Given the description of an element on the screen output the (x, y) to click on. 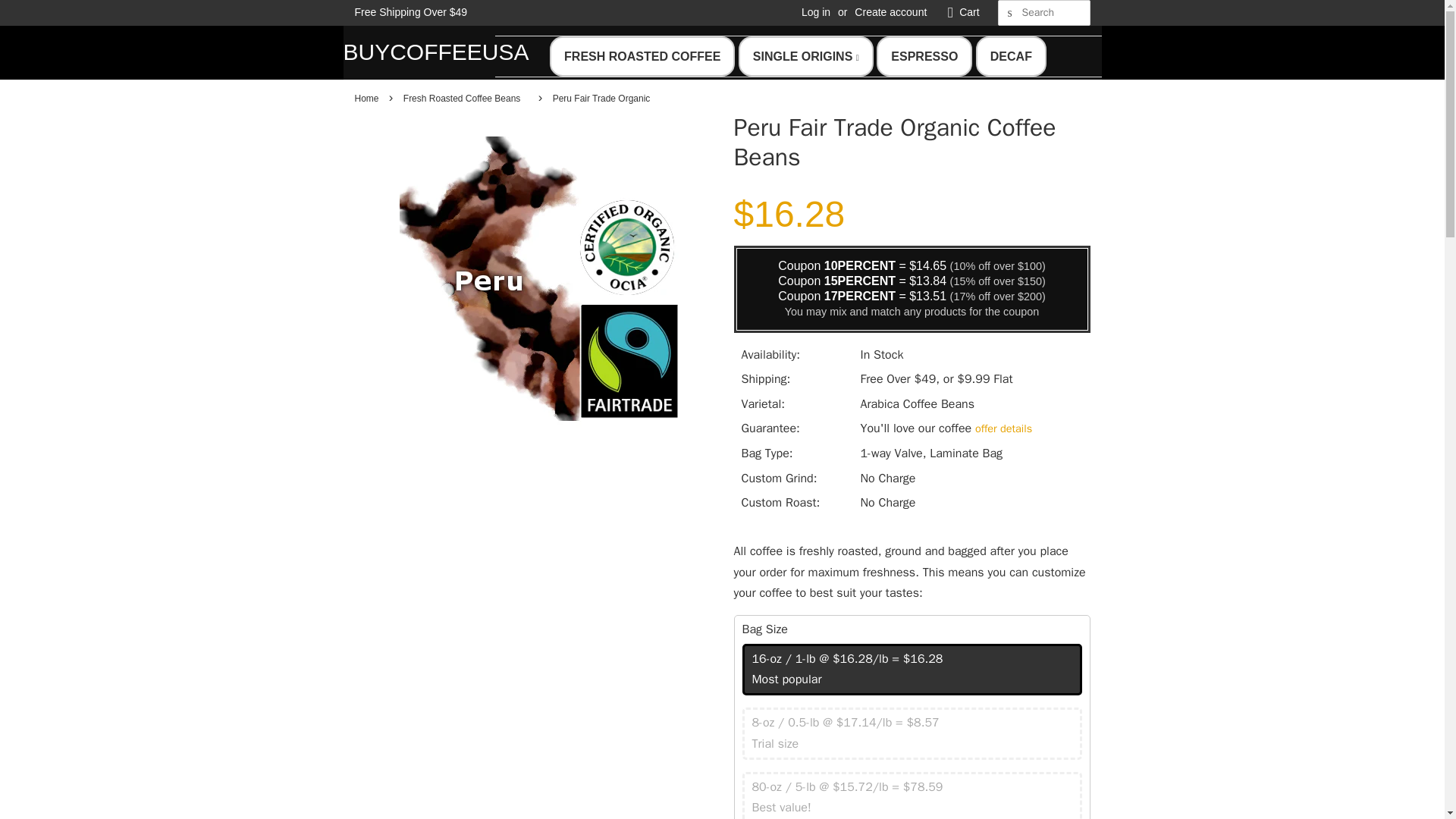
SINGLE ORIGINS (805, 55)
Log in (815, 11)
FRESH ROASTED COFFEE (642, 55)
Search (1008, 12)
Back to the frontpage (368, 98)
Cart (968, 13)
BUYCOFFEEUSA (418, 52)
Create account (890, 11)
